Given the description of an element on the screen output the (x, y) to click on. 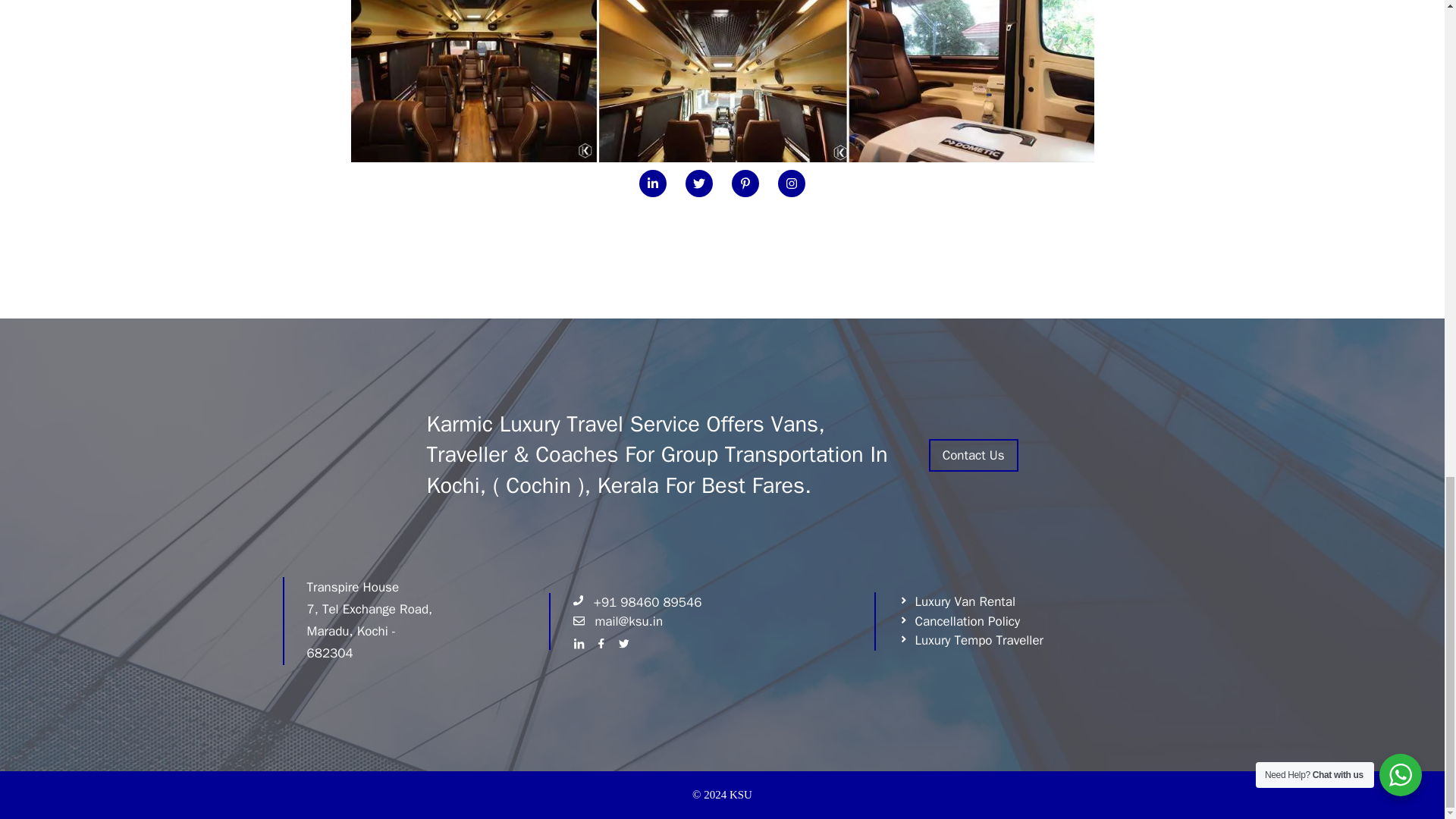
Luxury Tempo Traveller (970, 640)
Luxury-Van-Collash (721, 80)
Scroll back to top (1406, 386)
Cancellation Policy (959, 621)
Contact Us (972, 455)
Luxury Van Rental (956, 601)
